Given the description of an element on the screen output the (x, y) to click on. 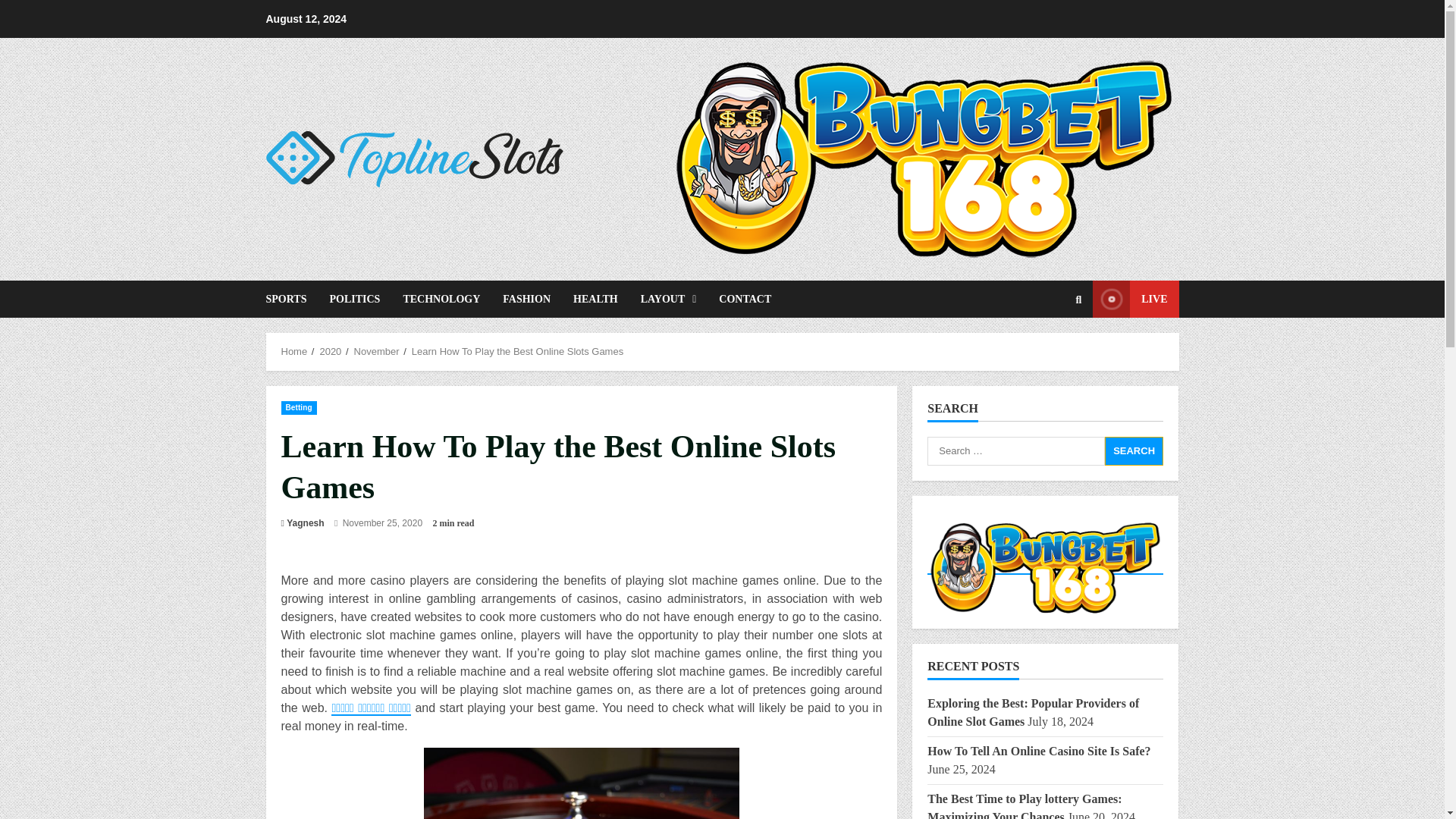
TECHNOLOGY (441, 298)
Search (1134, 451)
2020 (329, 351)
FASHION (527, 298)
CONTACT (739, 298)
Yagnesh (304, 522)
Betting (298, 407)
POLITICS (354, 298)
Search (1134, 451)
Search (1042, 350)
